Given the description of an element on the screen output the (x, y) to click on. 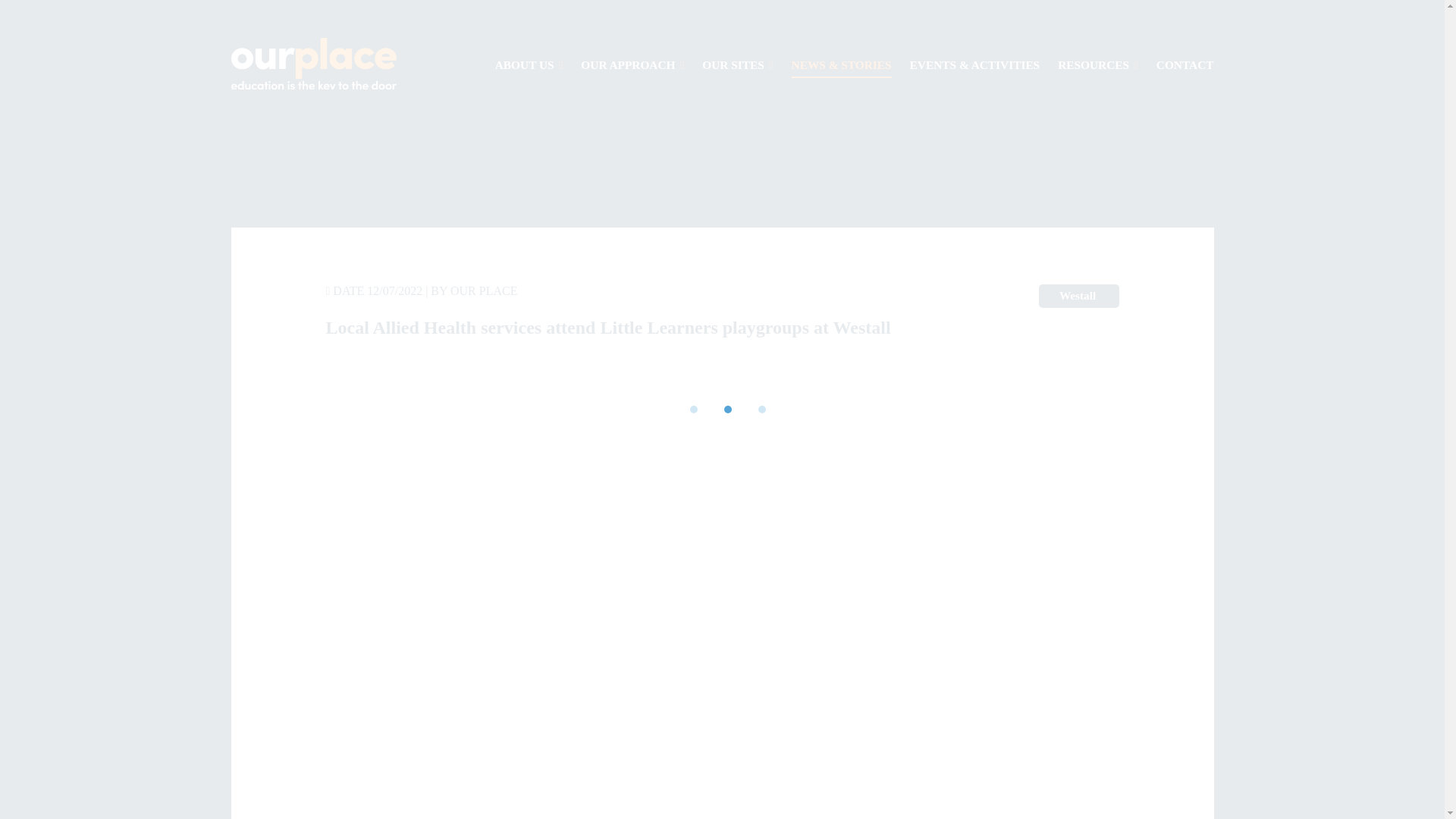
OUR SITES (737, 64)
OUR APPROACH (632, 64)
RESOURCES (1098, 64)
CONTACT (1185, 64)
Posts by Our Place (482, 290)
ABOUT US (529, 64)
